Given the description of an element on the screen output the (x, y) to click on. 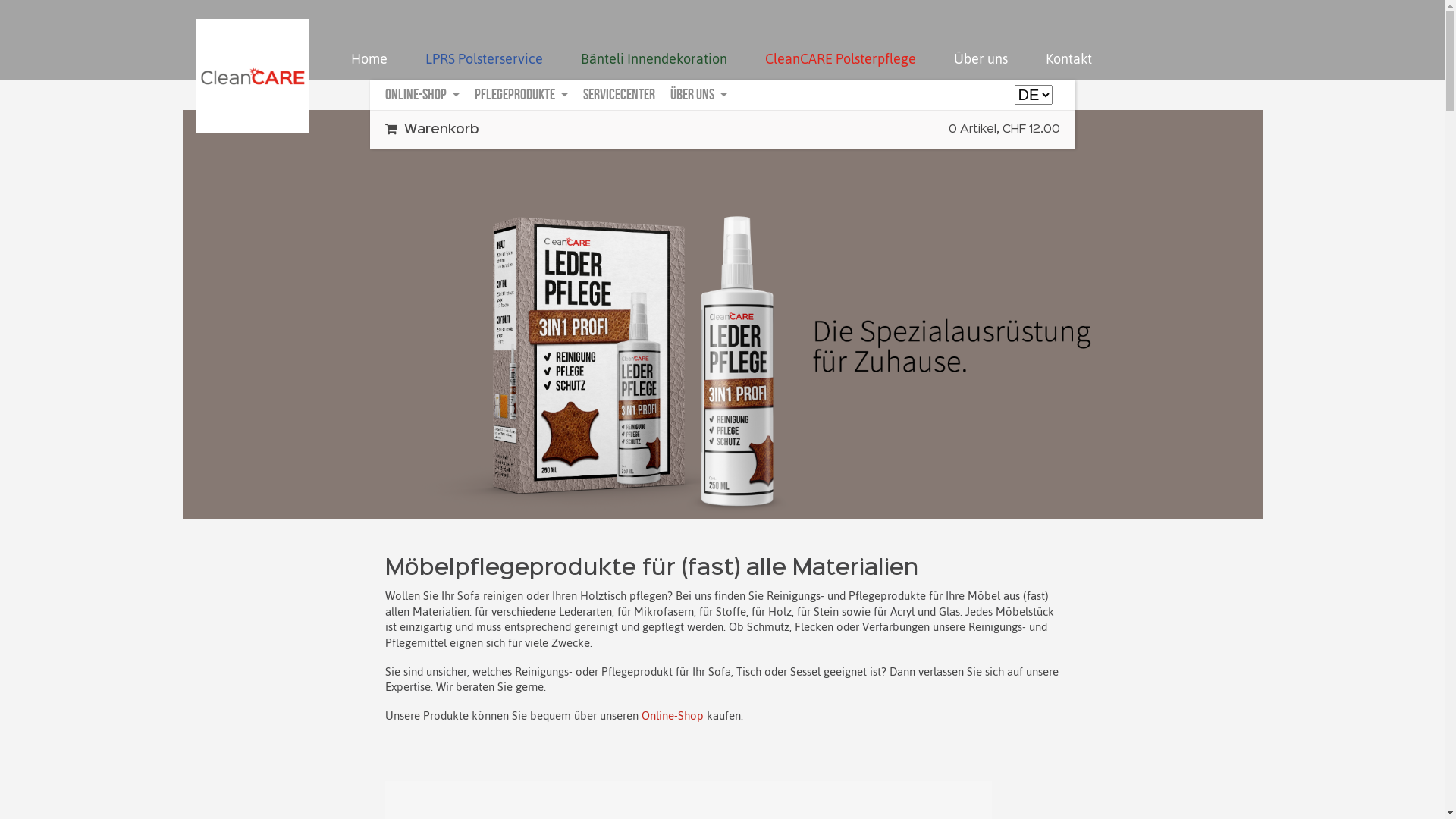
Online-Shop Element type: text (422, 93)
Servicecenter Element type: text (618, 93)
CleanCARE Polsterpflege Element type: text (840, 58)
Home Element type: text (369, 58)
LPRS Polsterservice Element type: text (483, 58)
Kontakt Element type: text (1068, 58)
Online-Shop Element type: text (672, 715)
Pflegeprodukte Element type: text (520, 93)
